Given the description of an element on the screen output the (x, y) to click on. 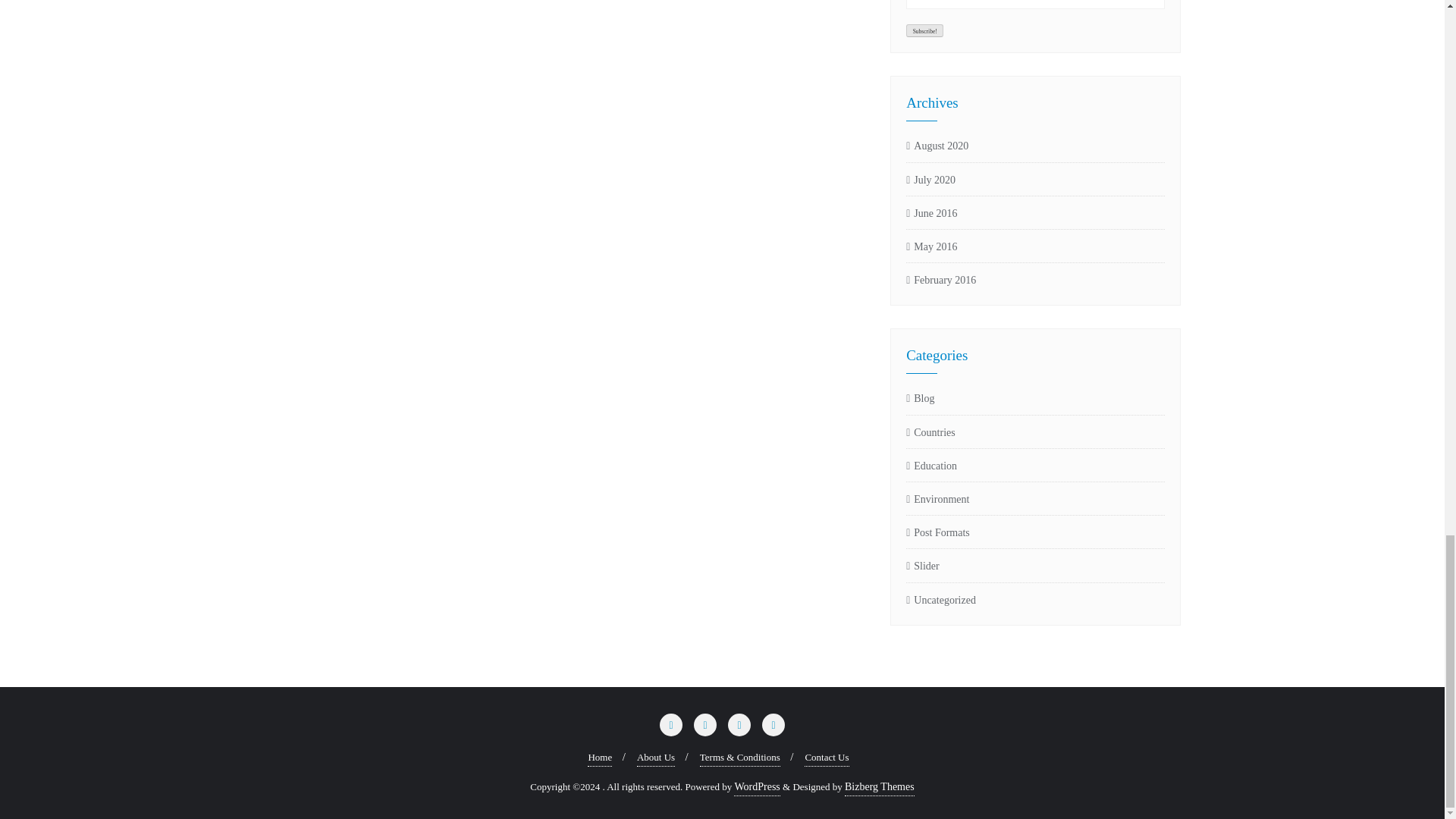
Email (1034, 4)
Subscribe! (924, 30)
